Given the description of an element on the screen output the (x, y) to click on. 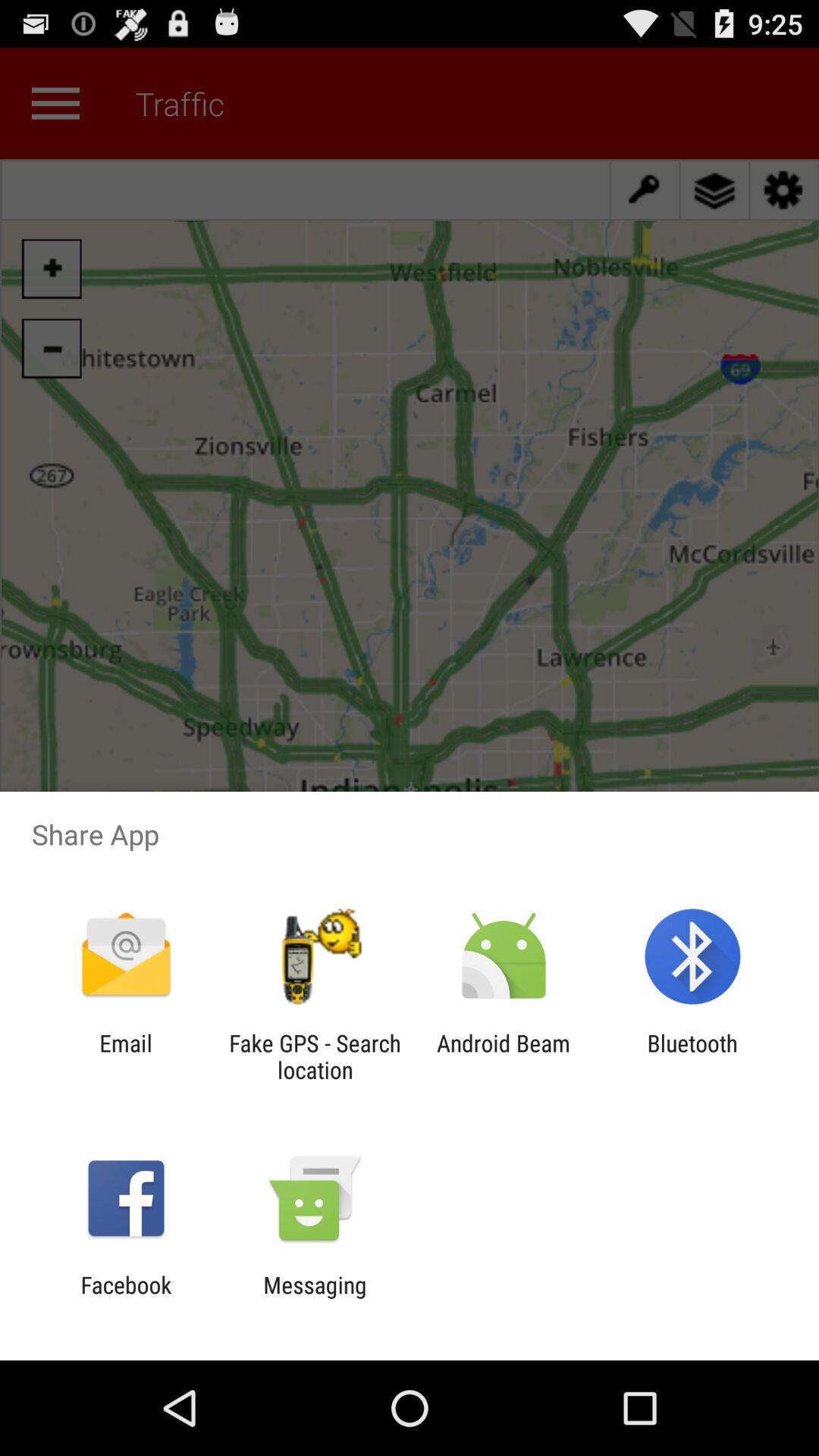
select the icon to the right of fake gps search icon (503, 1056)
